Given the description of an element on the screen output the (x, y) to click on. 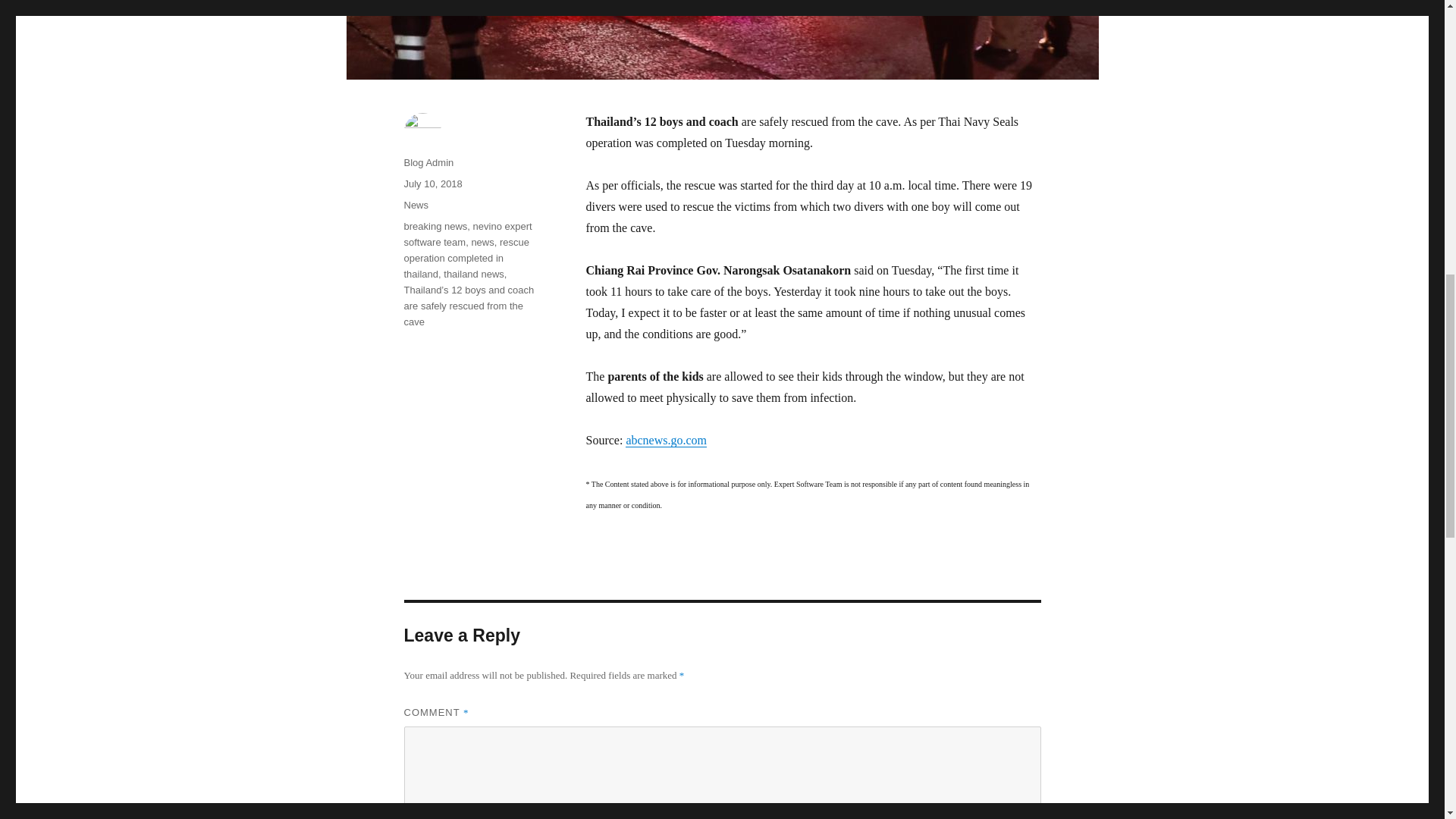
Blog Admin (427, 162)
news (481, 242)
abcnews.go.com (666, 440)
breaking news (435, 225)
rescue operation completed in thailand (466, 258)
July 10, 2018 (432, 183)
News (415, 204)
nevino expert software team (467, 234)
thailand news (473, 274)
